Given the description of an element on the screen output the (x, y) to click on. 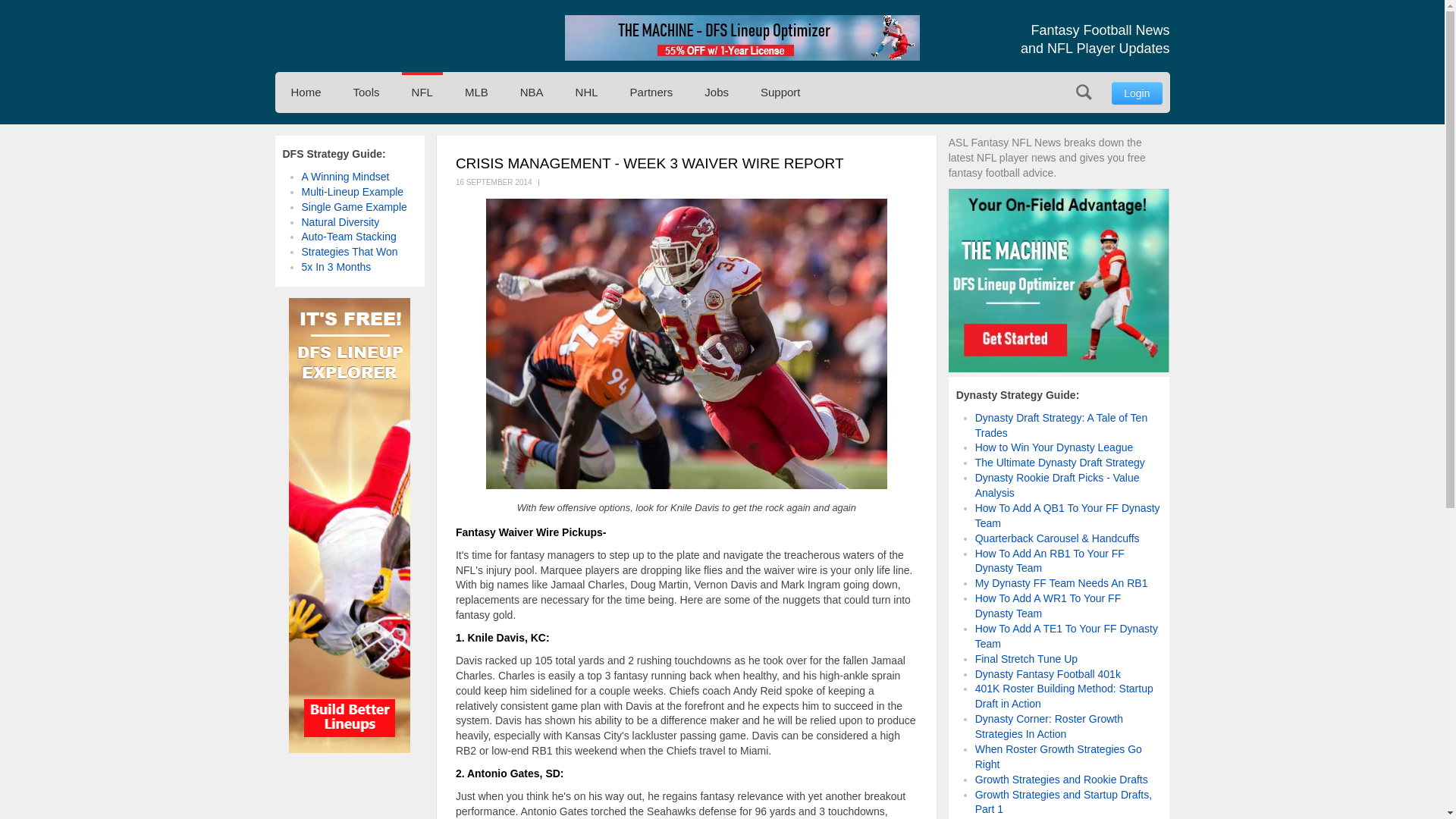
Dynasty Rookie Draft Picks - Value Analysis (1057, 484)
Home (305, 92)
MLB (475, 92)
NBA (532, 92)
My Dynasty FF Team Needs An RB1 (1061, 582)
Partners (651, 92)
Natural Diversity (340, 221)
Dynasty Draft Strategy: A Tale of Ten Trades (1061, 424)
Multi-Lineup Example (352, 191)
How to Win Your Dynasty League (1054, 447)
NHL (587, 92)
Login (1136, 92)
A Winning Mindset (345, 176)
How To Add A QB1 To Your FF Dynasty Team (1067, 515)
The Ultimate Dynasty Draft Strategy (1059, 462)
